Given the description of an element on the screen output the (x, y) to click on. 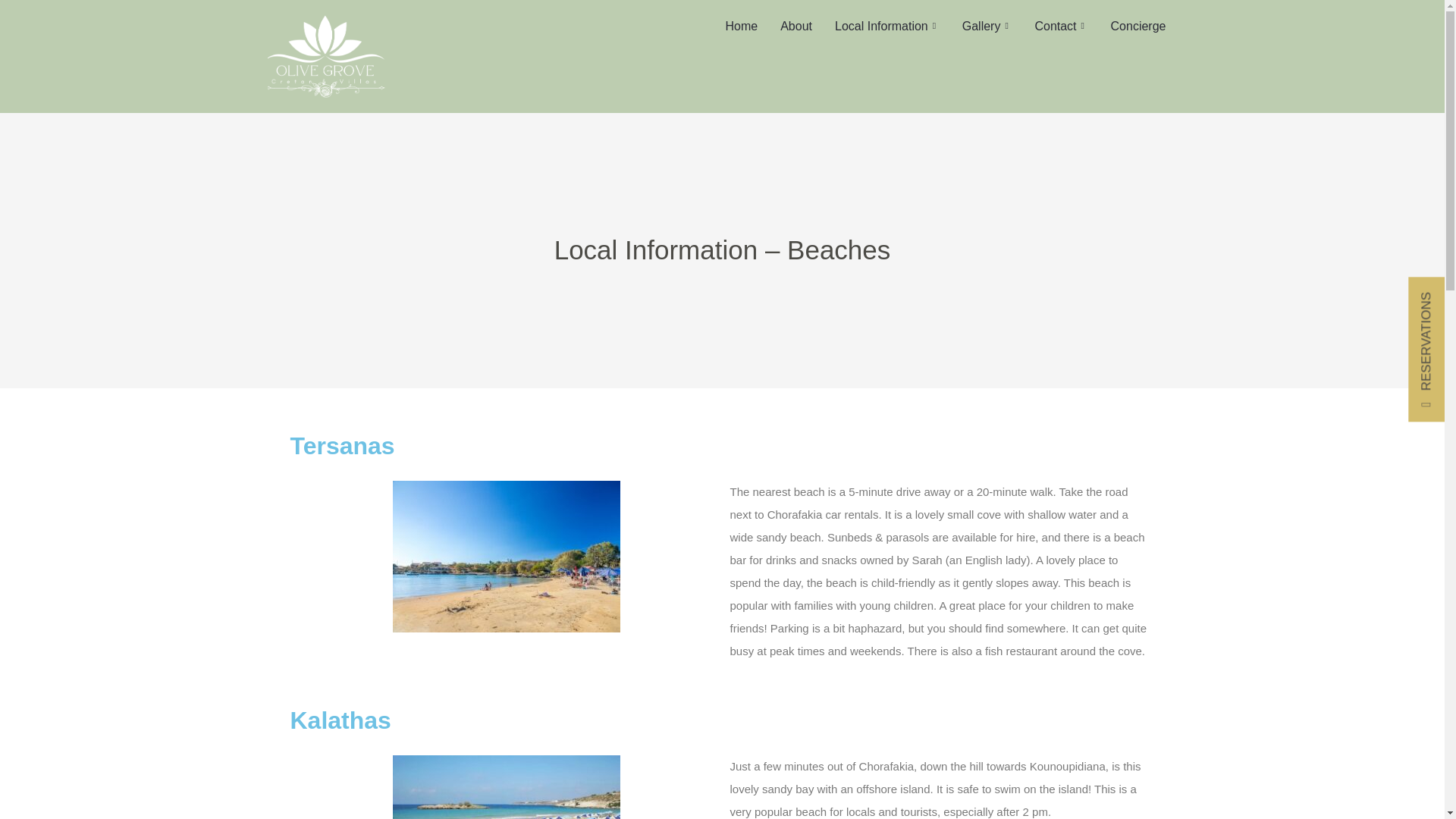
Home (742, 26)
Local Information (887, 26)
Cretan Villas (325, 56)
About (796, 26)
Gallery (986, 26)
